Given the description of an element on the screen output the (x, y) to click on. 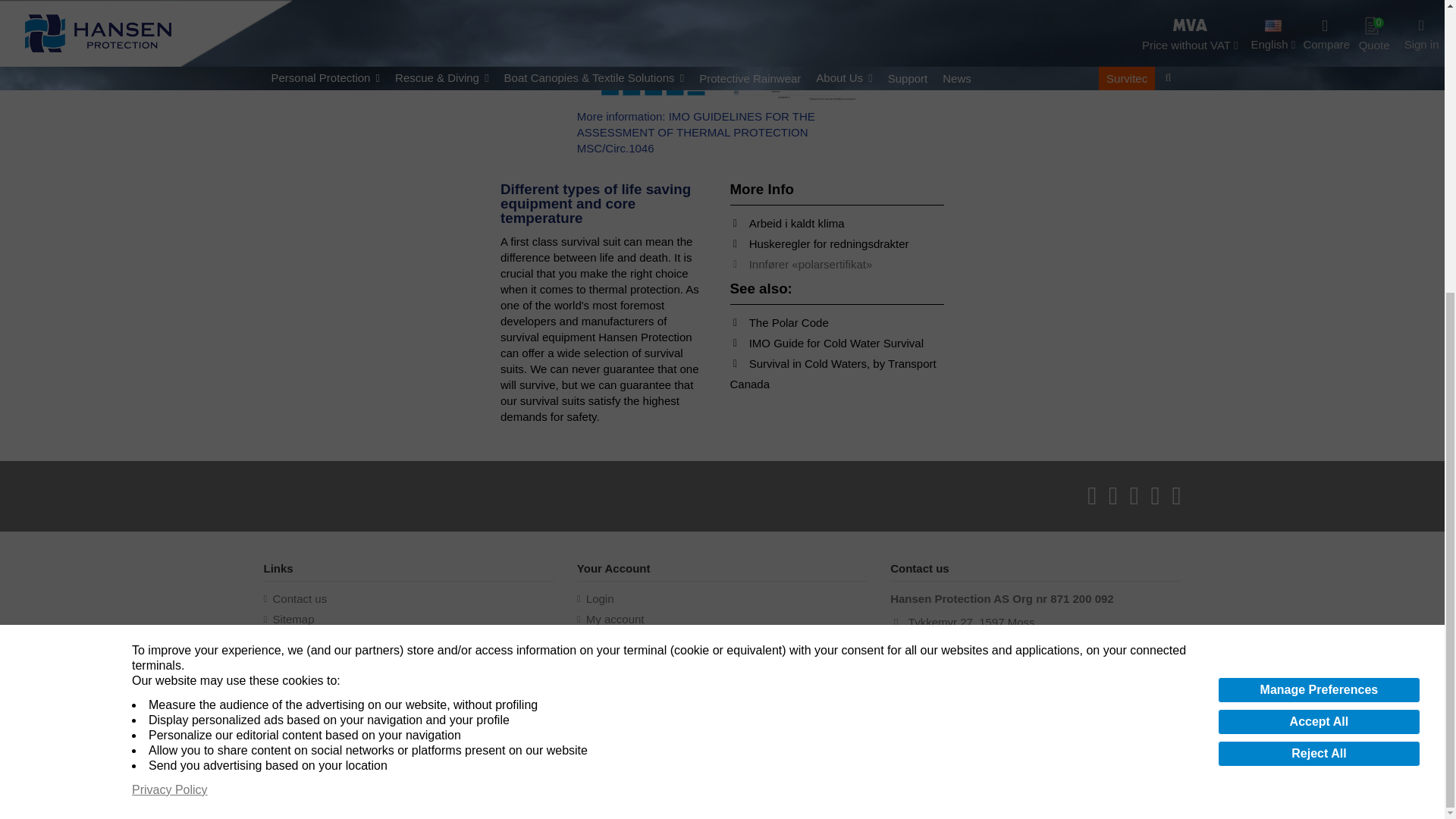
Accept All (1319, 273)
Use our form to contact us (295, 598)
Manage Preferences (1319, 241)
Privacy Policy (170, 341)
Reject All (1319, 305)
Lost ? Find what your are looking for (288, 618)
